Given the description of an element on the screen output the (x, y) to click on. 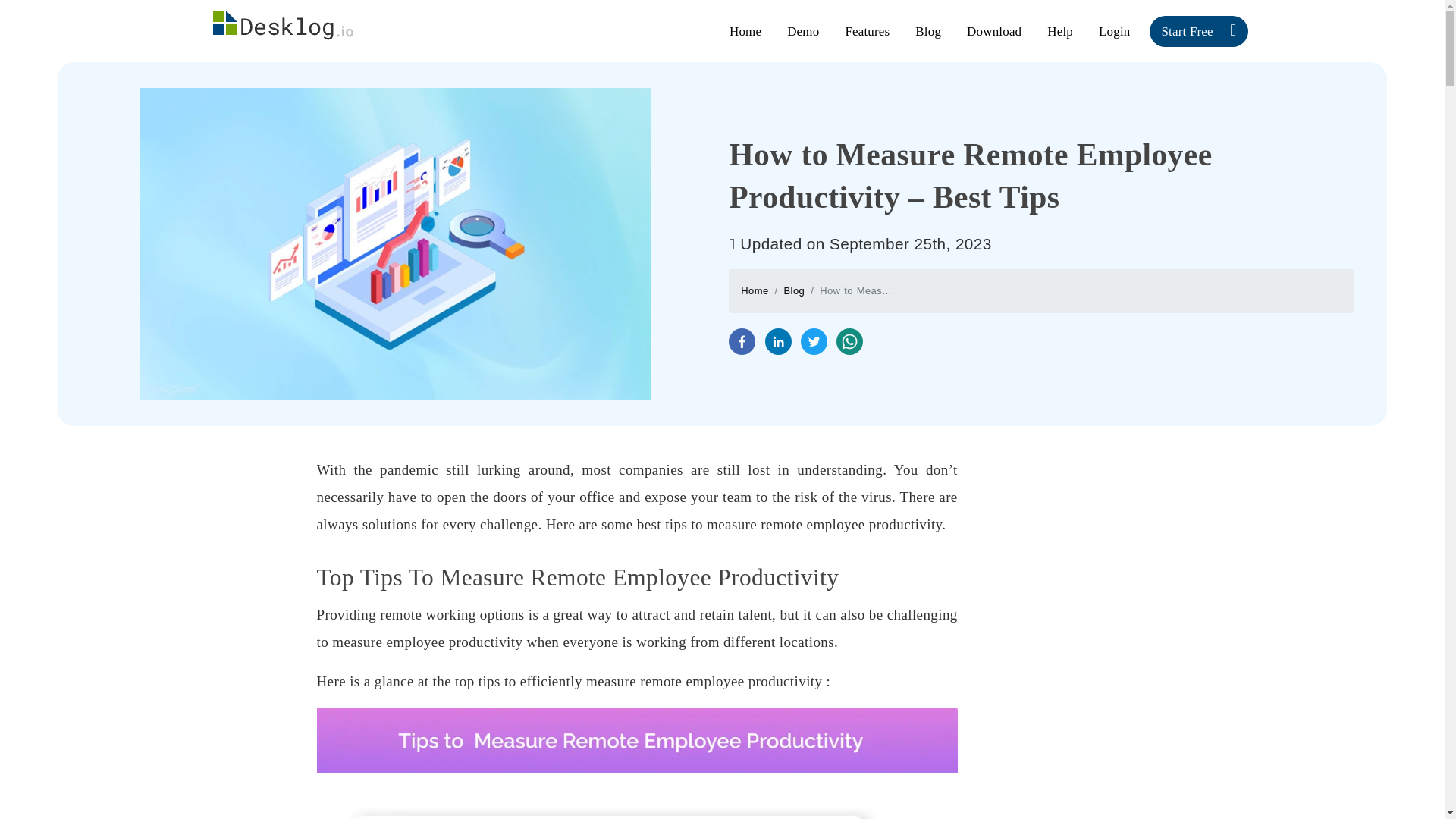
Home (745, 30)
Blog (794, 290)
Login (1113, 30)
Start Free (1198, 30)
Blog (927, 30)
Features (866, 30)
Home (754, 290)
Demo (802, 30)
Help (1059, 30)
Download (994, 30)
